Given the description of an element on the screen output the (x, y) to click on. 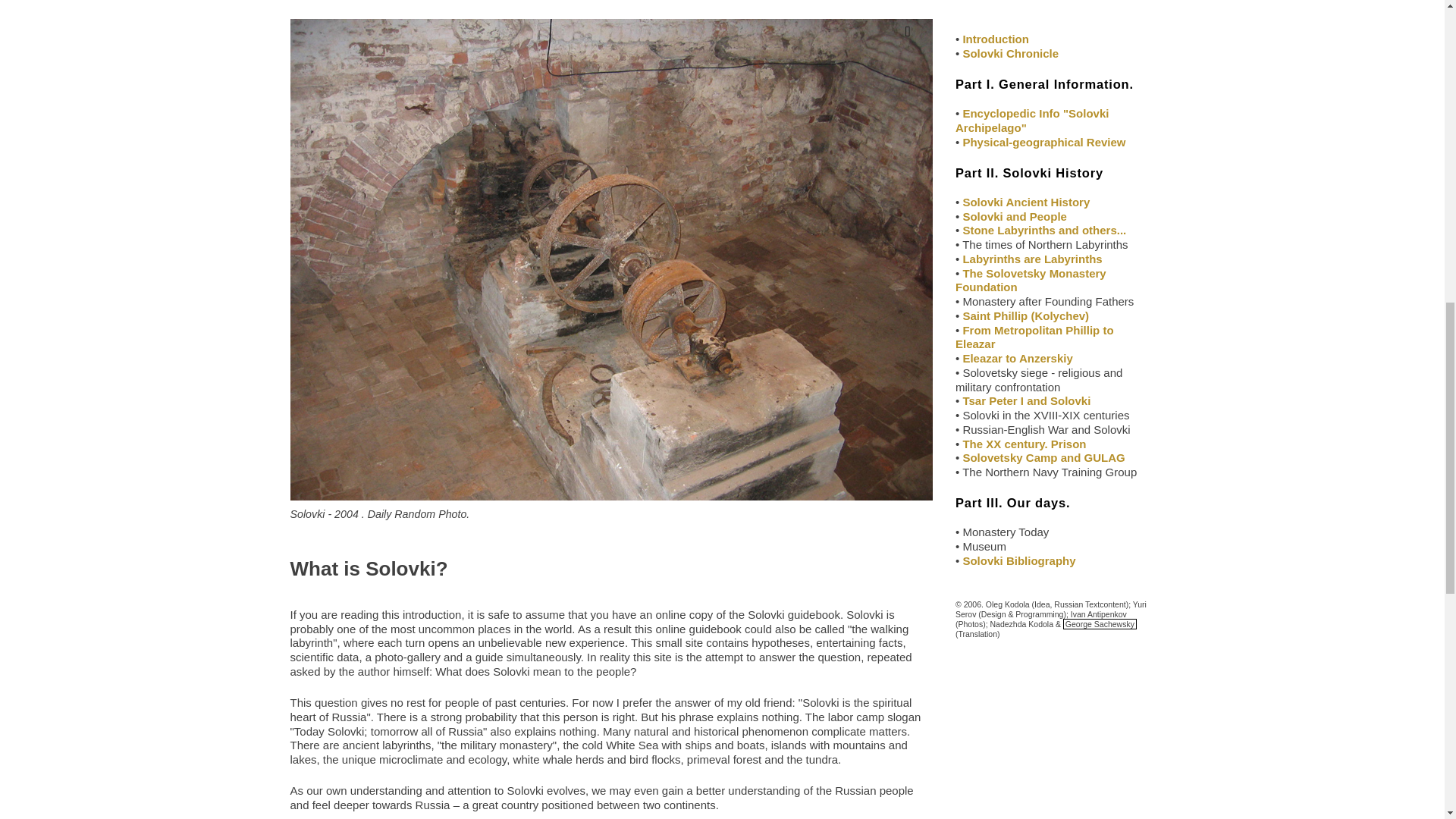
Encyclopedic Info "Solovki Archipelago" (1031, 120)
Tsar Peter I and Solovki (1026, 400)
Solovki Chronicle (1010, 52)
Labyrinths are Labyrinths (1032, 258)
Physical-geographical Review (1043, 141)
Solovki and People (1014, 215)
From Metropolitan Phillip to Eleazar (1034, 337)
Solovki Ancient History (1025, 201)
Eleazar to Anzerskiy (1016, 358)
Solovki Bibliography (1018, 560)
Solovetsky Camp and GULAG (1043, 457)
Introduction (994, 38)
The Solovetsky Monastery Foundation (1030, 280)
Stone Labyrinths and others... (1043, 229)
The XX century. Prison (1024, 443)
